Given the description of an element on the screen output the (x, y) to click on. 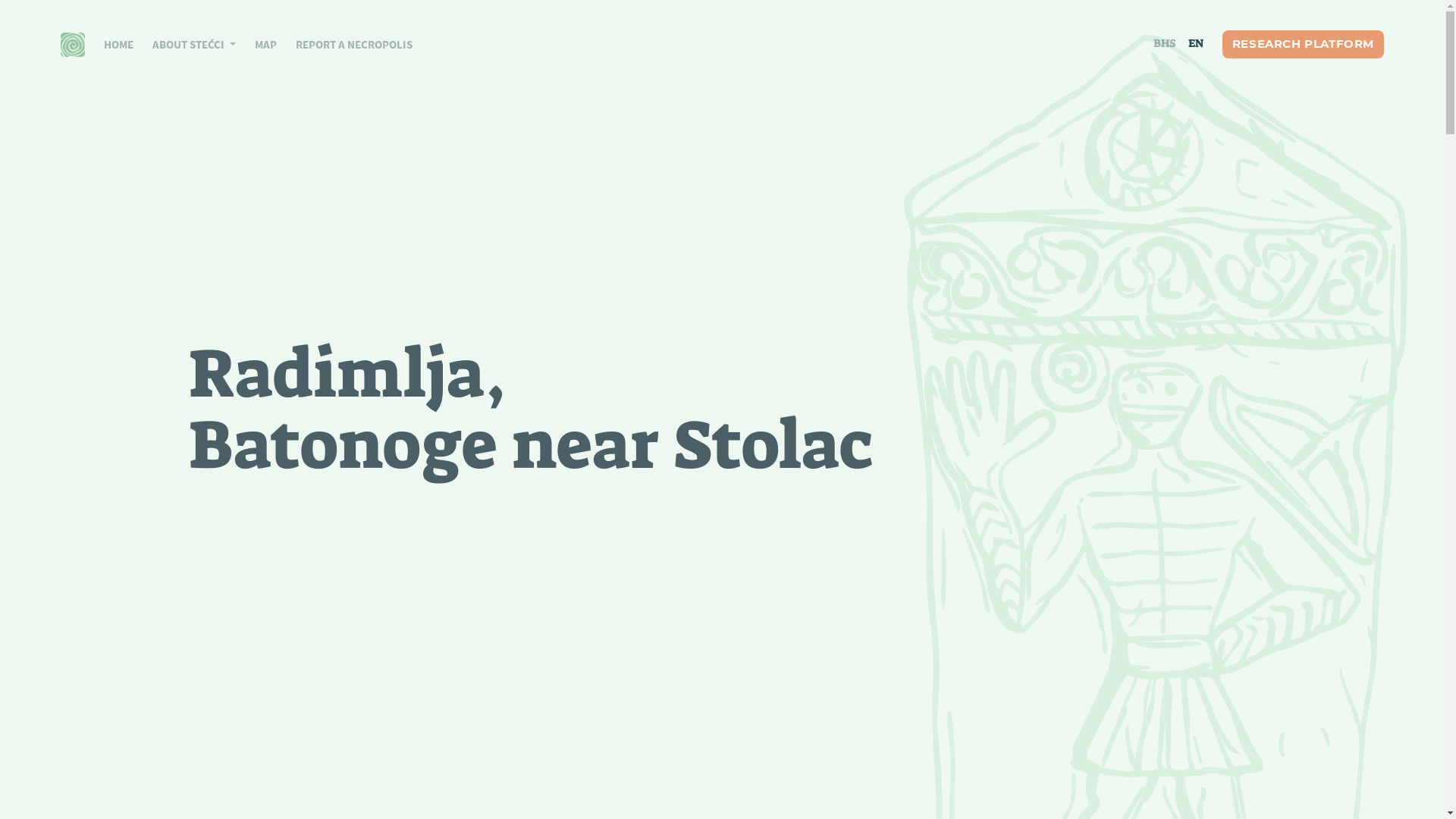
MAP Element type: text (255, 44)
HOME Element type: text (108, 44)
RESEARCH PLATFORM Element type: text (1302, 44)
BHS Element type: text (1164, 43)
REPORT A NECROPOLIS Element type: text (344, 44)
EN Element type: text (1195, 43)
